Given the description of an element on the screen output the (x, y) to click on. 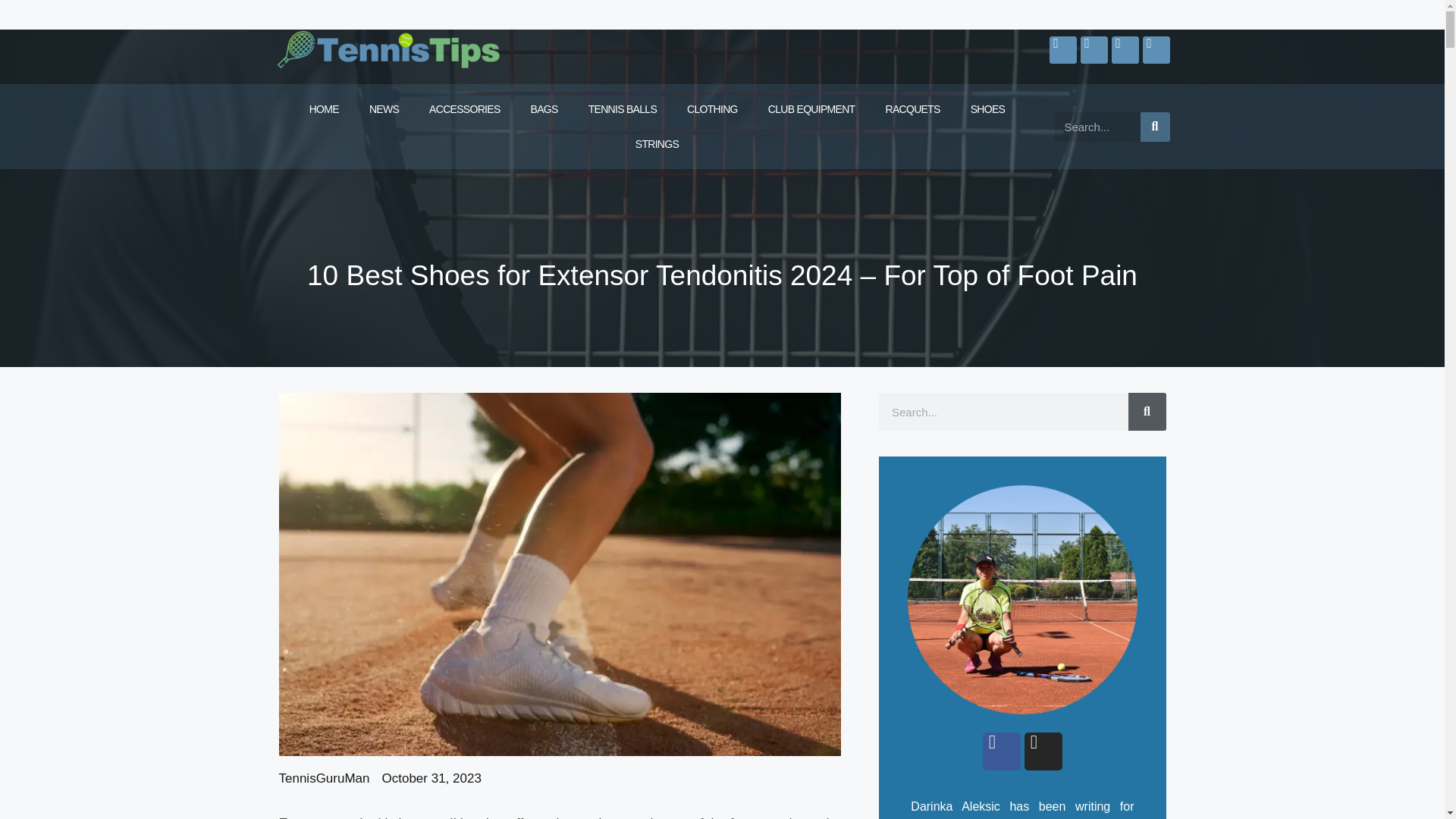
CLUB EQUIPMENT (811, 108)
TENNIS BALLS (622, 108)
STRINGS (657, 143)
CLOTHING (711, 108)
TennisGuruMan (324, 778)
ACCESSORIES (464, 108)
HOME (323, 108)
NEWS (383, 108)
October 31, 2023 (431, 778)
BAGS (544, 108)
RACQUETS (912, 108)
SHOES (987, 108)
